Given the description of an element on the screen output the (x, y) to click on. 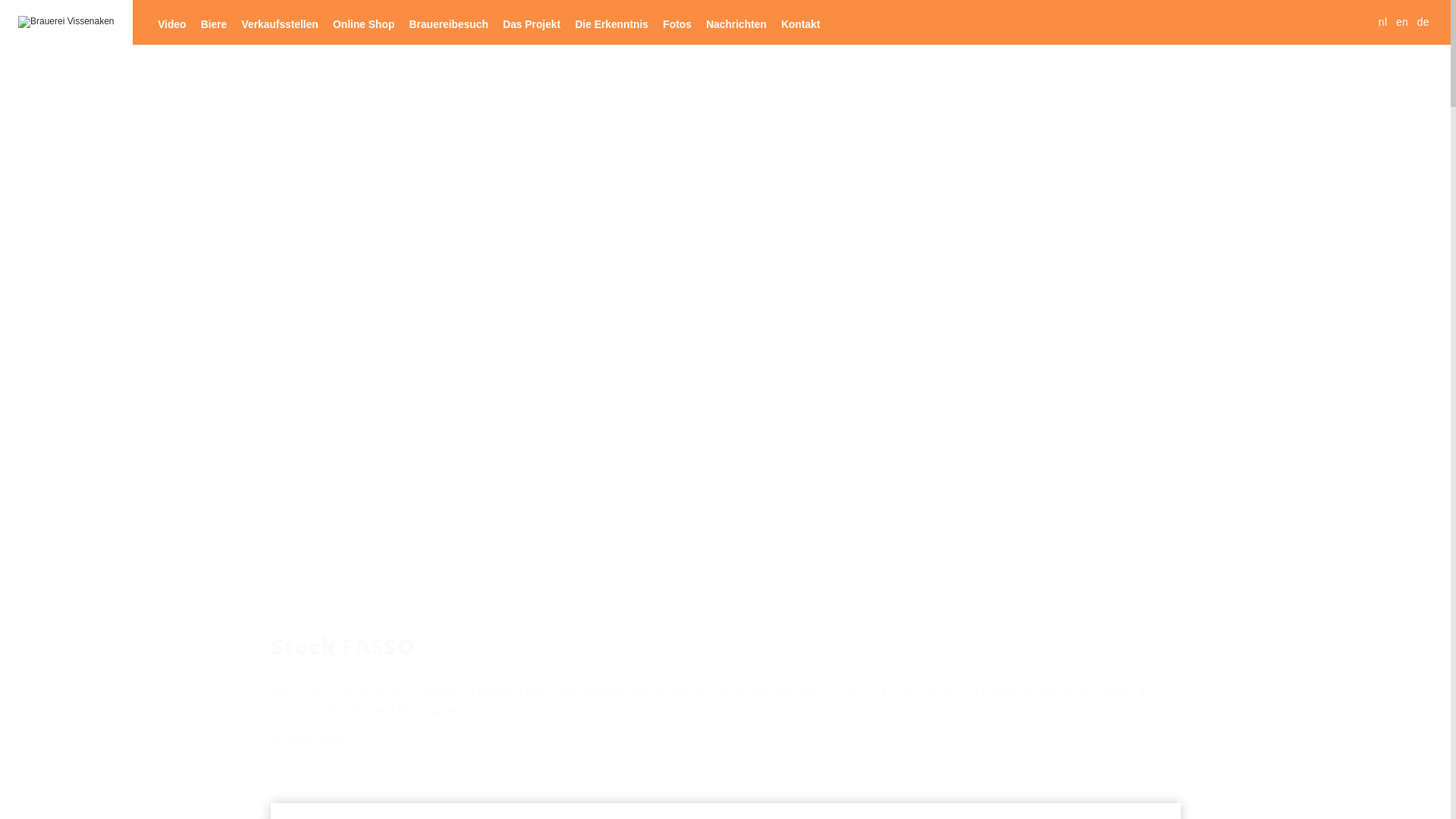
Die Erkenntnis Element type: text (611, 24)
Brauereibesuch Element type: text (448, 24)
nl Element type: text (1382, 22)
de Element type: text (1423, 22)
Das Projekt Element type: text (531, 24)
Biere Element type: text (213, 24)
Fotos Element type: text (677, 24)
Video Element type: text (171, 24)
x Element type: text (743, 424)
Online Shop Element type: text (363, 24)
en Element type: text (1402, 22)
Verkaufsstellen Element type: text (279, 24)
Kontakt Element type: text (800, 24)
Nachrichten Element type: text (736, 24)
Brauerei Vissenaken Element type: hover (66, 21)
